Given the description of an element on the screen output the (x, y) to click on. 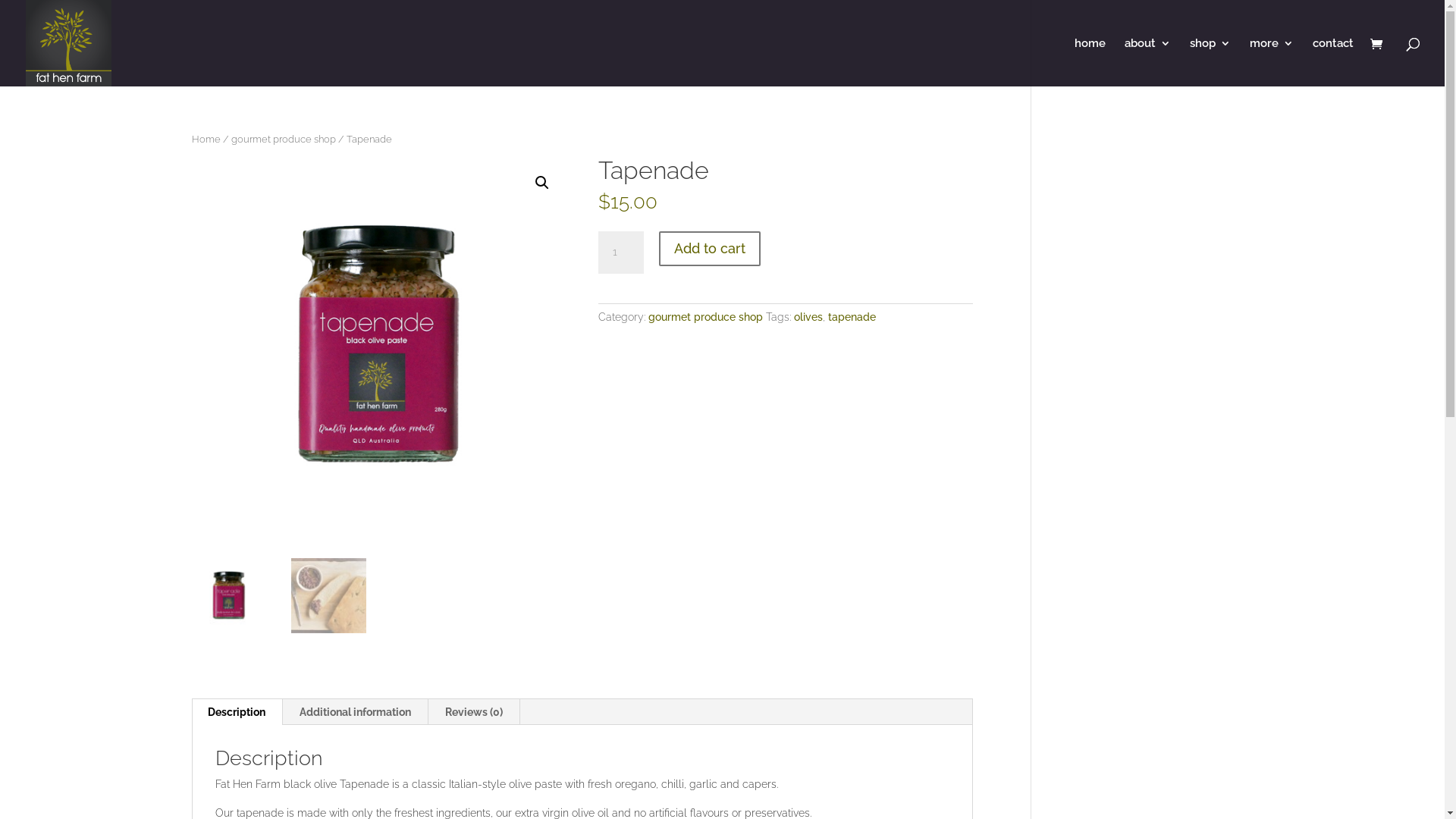
Add to cart Element type: text (709, 248)
tapenade Element type: text (851, 316)
Reviews (0) Element type: text (472, 711)
shop Element type: text (1209, 61)
gourmet produce shop Element type: text (704, 316)
Additional information Element type: text (354, 711)
Qty Element type: hover (620, 252)
olives Element type: text (807, 316)
home Element type: text (1089, 61)
contact Element type: text (1332, 61)
FHF - Tapenade (1) Element type: hover (378, 345)
more Element type: text (1271, 61)
Description Element type: text (236, 711)
gourmet produce shop Element type: text (282, 138)
about Element type: text (1147, 61)
Home Element type: text (205, 138)
